Given the description of an element on the screen output the (x, y) to click on. 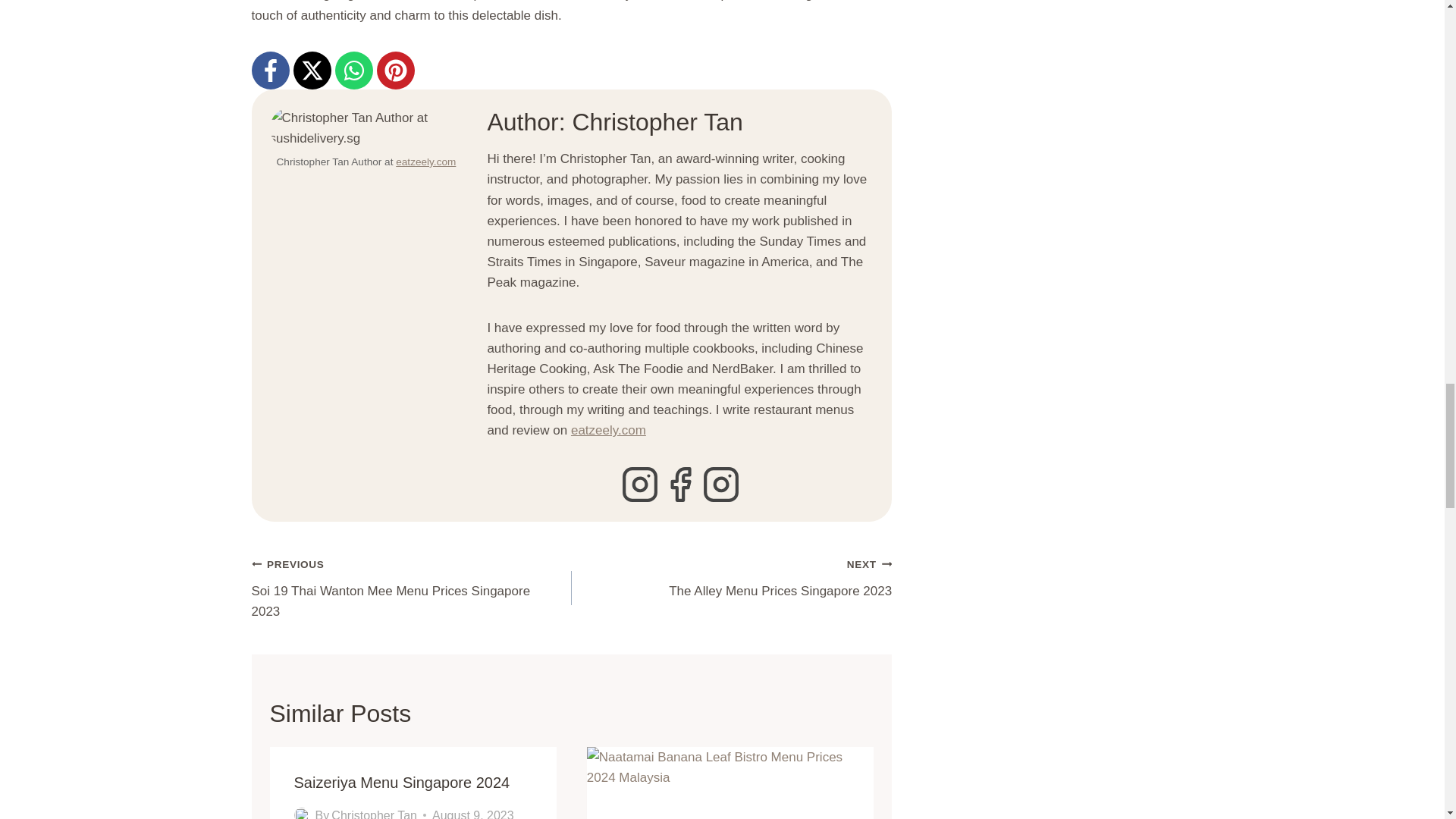
Naatamai Banana Leaf Bistro Menu Prices 2024 Malaysia 4 (729, 782)
